Given the description of an element on the screen output the (x, y) to click on. 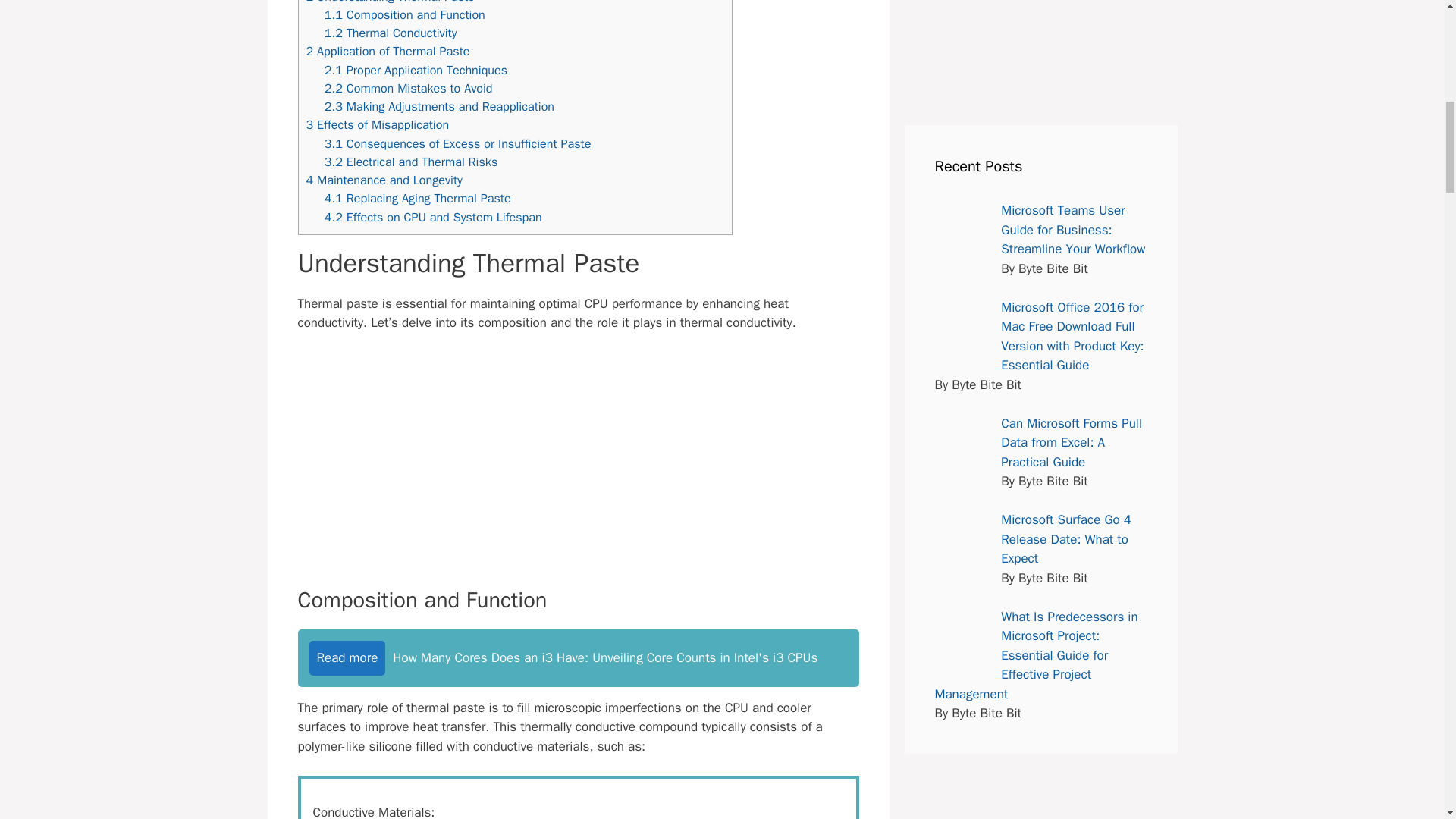
4.1 Replacing Aging Thermal Paste (417, 198)
4.2 Effects on CPU and System Lifespan (432, 217)
3.2 Electrical and Thermal Risks (410, 161)
1.1 Composition and Function (404, 14)
3.1 Consequences of Excess or Insufficient Paste (457, 143)
3 Effects of Misapplication (377, 124)
4 Maintenance and Longevity (384, 179)
2.2 Common Mistakes to Avoid (408, 88)
1.2 Thermal Conductivity (390, 32)
